Given the description of an element on the screen output the (x, y) to click on. 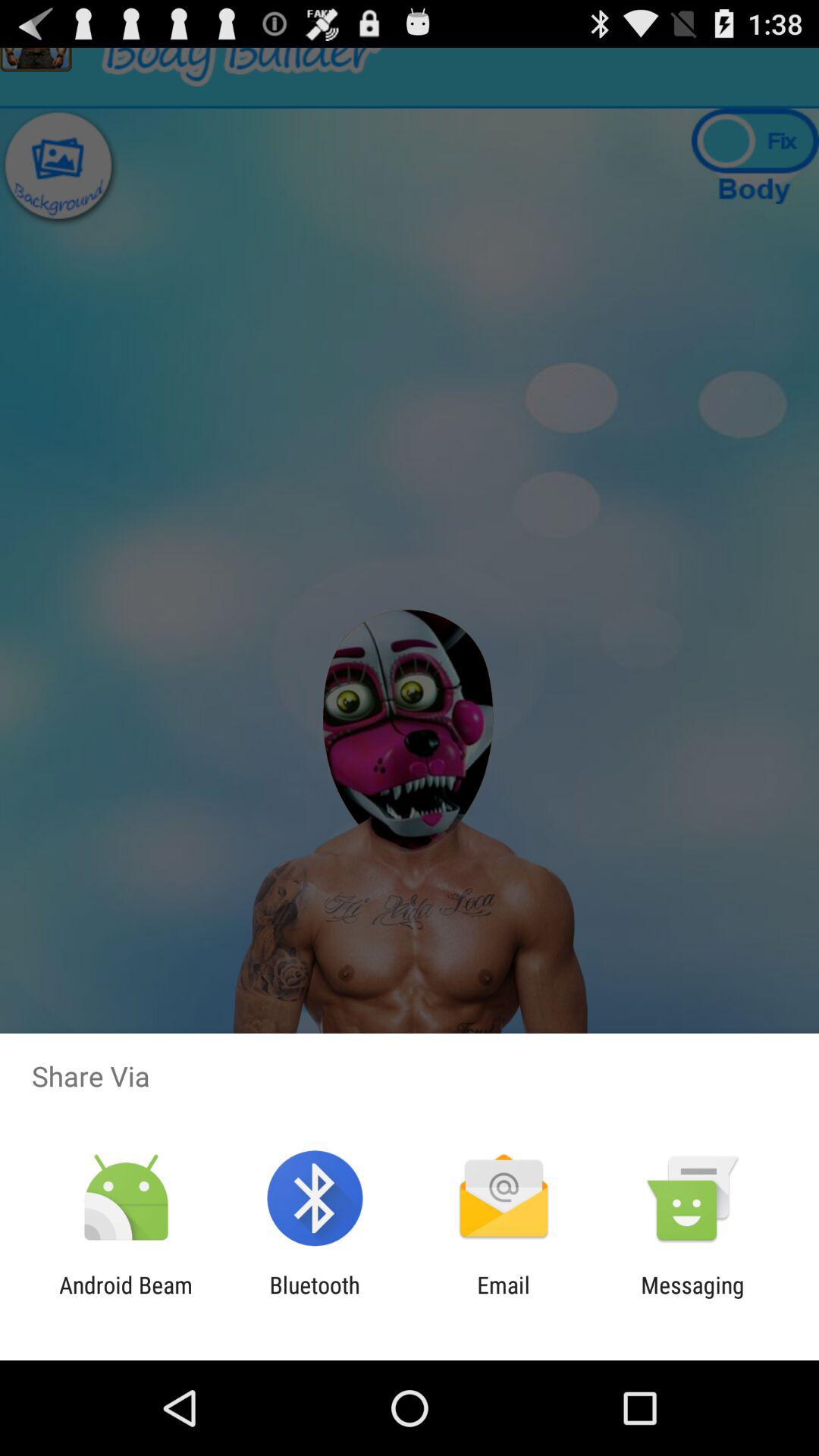
scroll until the android beam item (125, 1298)
